Given the description of an element on the screen output the (x, y) to click on. 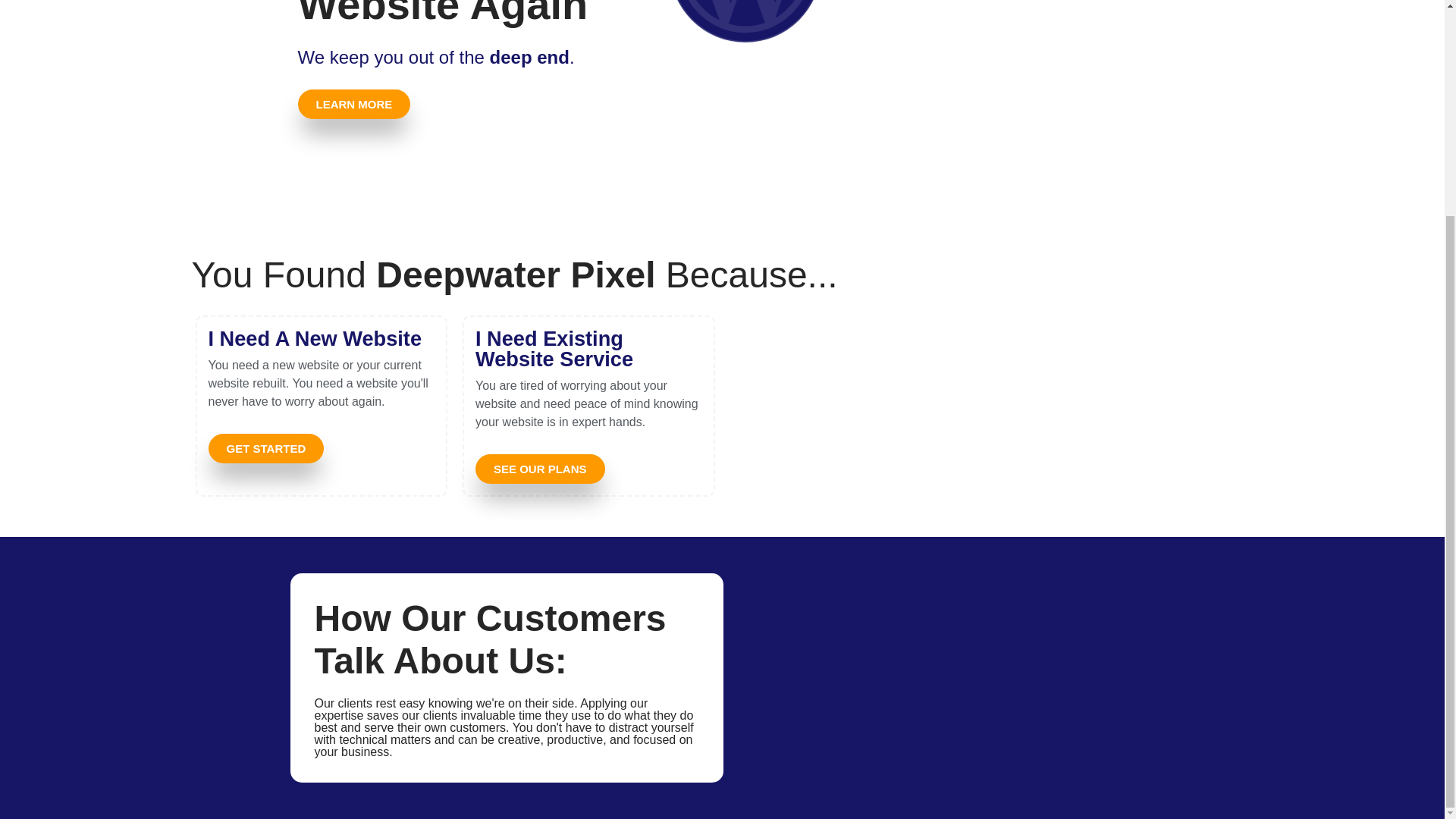
SEE OUR PLANS (540, 469)
LEARN MORE (353, 102)
GET STARTED (265, 448)
